Given the description of an element on the screen output the (x, y) to click on. 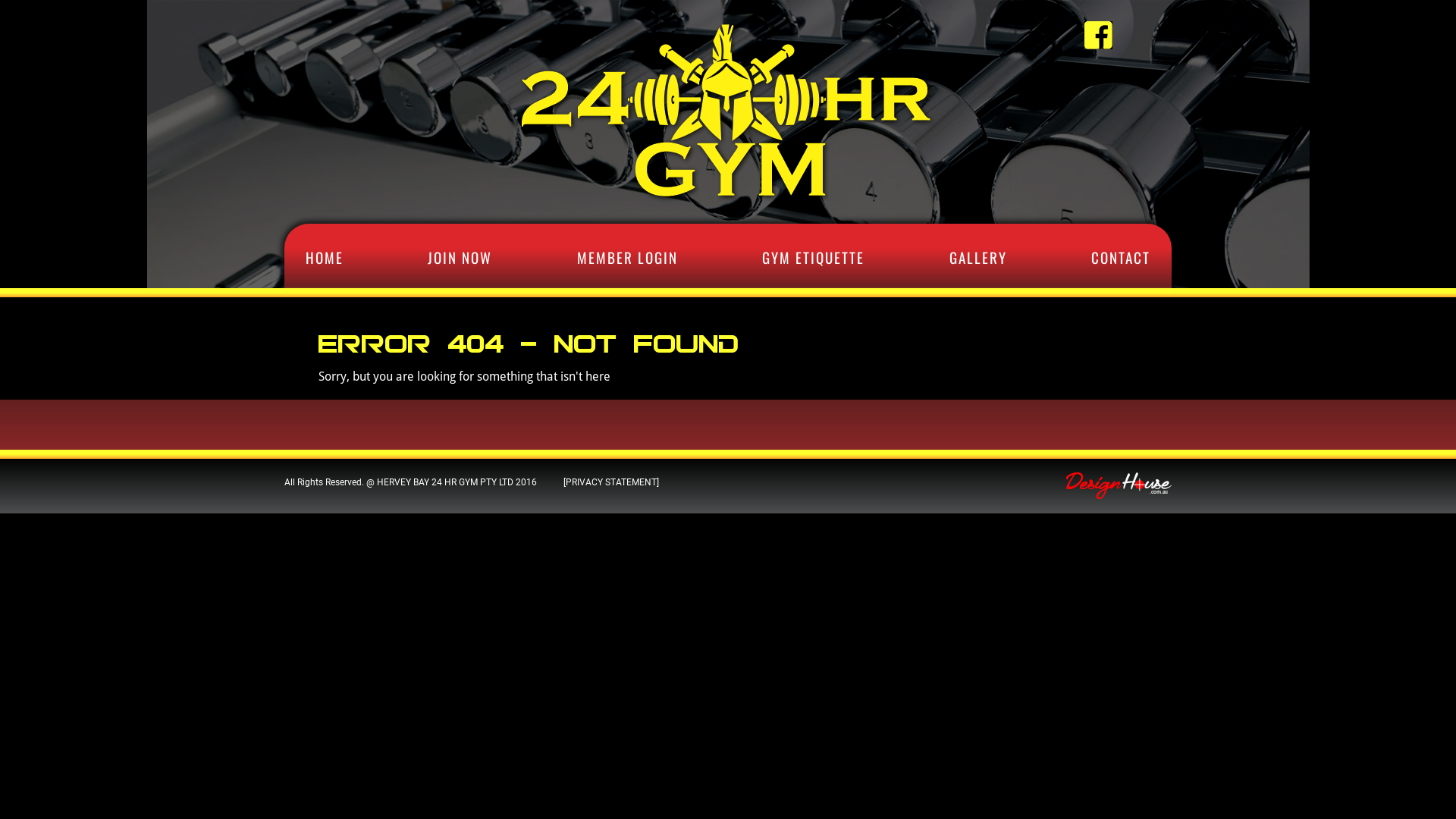
JOIN NOW Element type: text (459, 255)
CONTACT Element type: text (1120, 255)
Hervey Bay 24 Hour Gym Element type: hover (727, 200)
GYM ETIQUETTE Element type: text (812, 255)
MEMBER LOGIN Element type: text (627, 255)
facebook Element type: text (1098, 35)
[PRIVACY STATEMENT] Element type: text (610, 481)
GALLERY Element type: text (978, 255)
HOME Element type: text (324, 255)
